Given the description of an element on the screen output the (x, y) to click on. 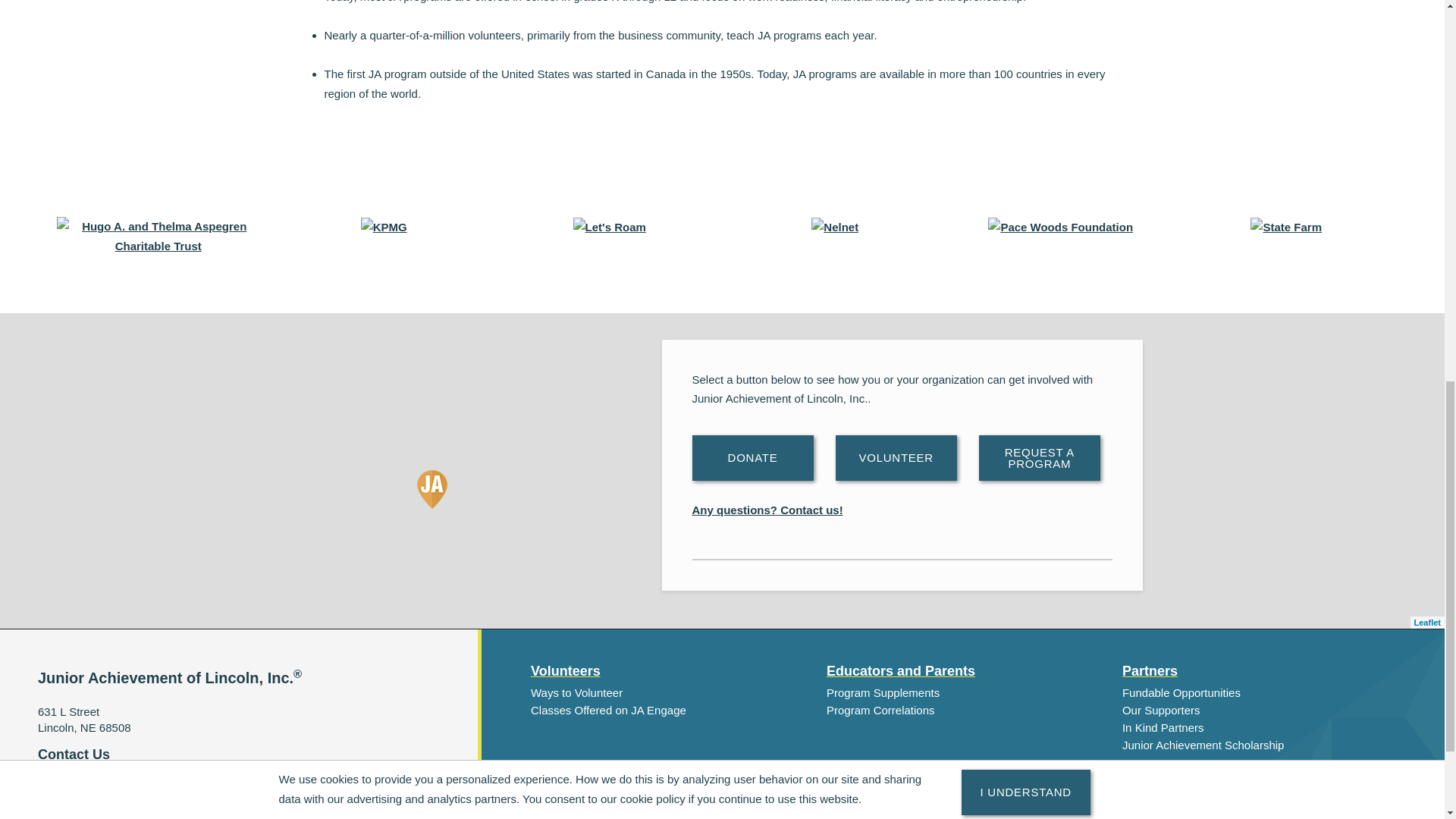
Any questions? Contact us! (767, 509)
REQUEST A PROGRAM (1039, 457)
Program Supplements (883, 692)
DONATE (751, 457)
Volunteers (565, 671)
VOLUNTEER (895, 457)
Contact Us (73, 754)
Classes Offered on JA Engage (608, 709)
Learn more about how KPMG supports us (384, 226)
Ways to Volunteer (577, 692)
